Given the description of an element on the screen output the (x, y) to click on. 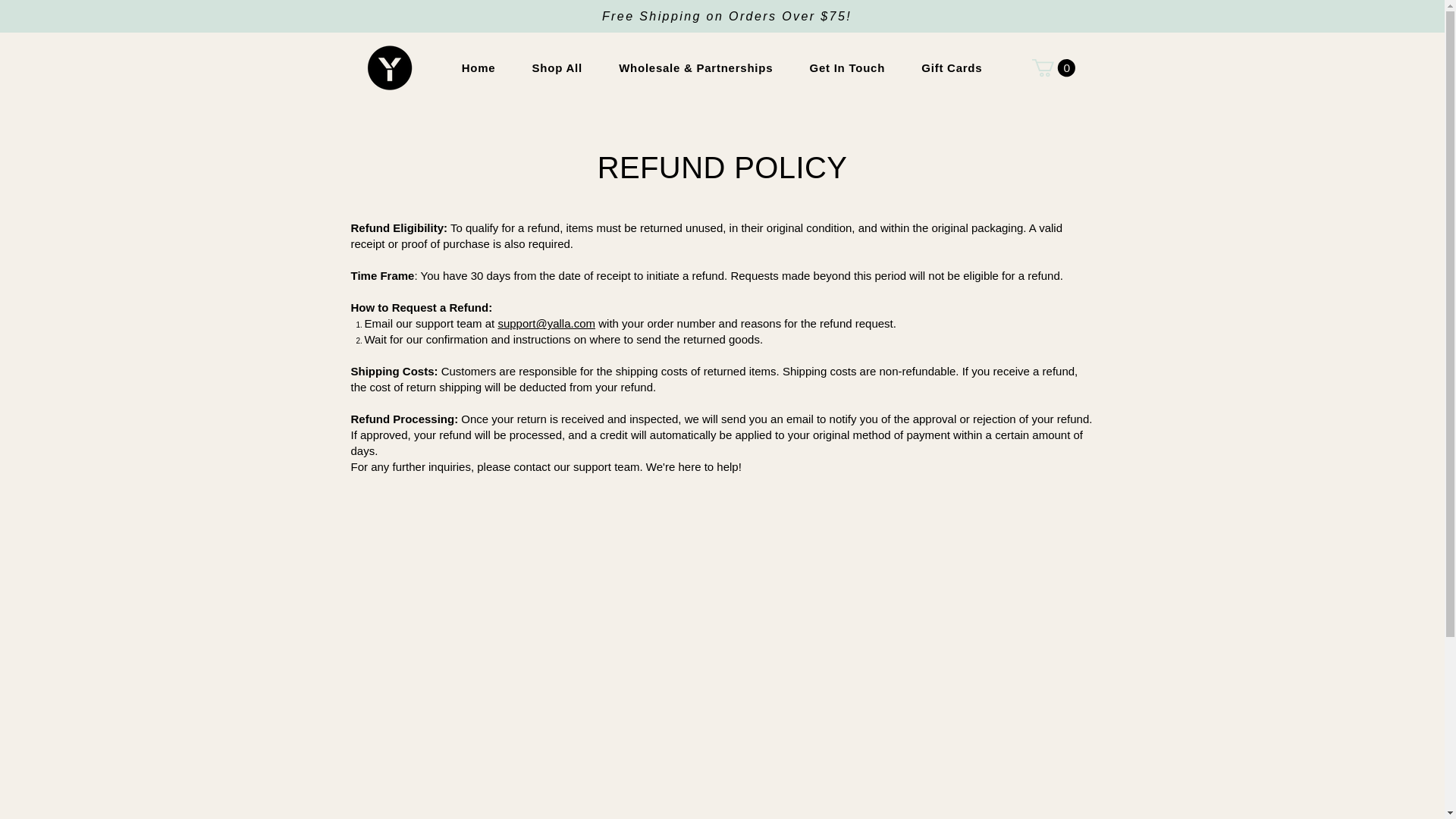
0 (1052, 67)
Get In Touch (846, 68)
Gift Cards (951, 68)
Home (478, 68)
0 (1052, 67)
